Given the description of an element on the screen output the (x, y) to click on. 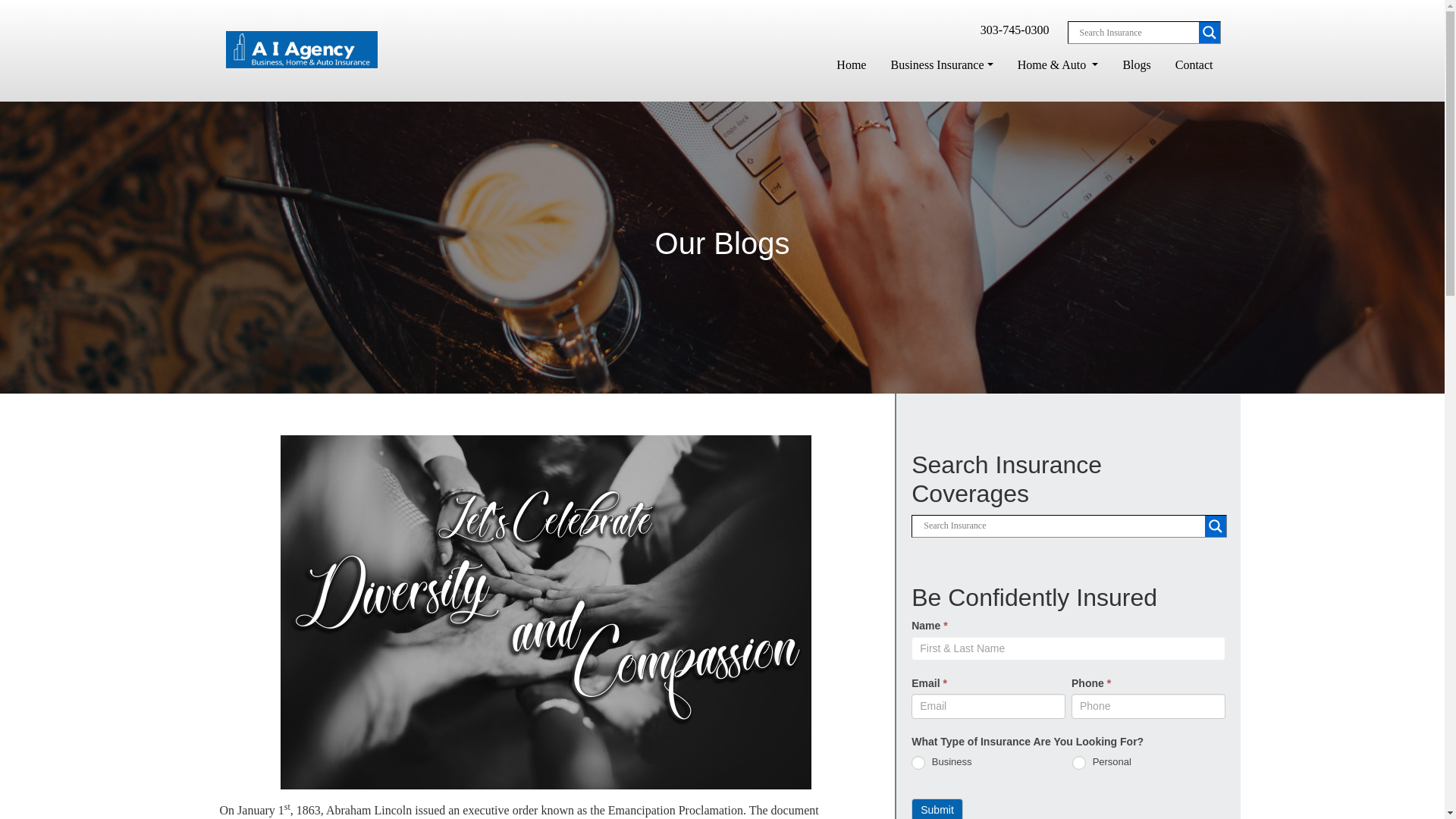
Blogs (1136, 64)
Business Insurance (940, 64)
Personal (1078, 762)
Contact (1194, 64)
Business (917, 762)
